Given the description of an element on the screen output the (x, y) to click on. 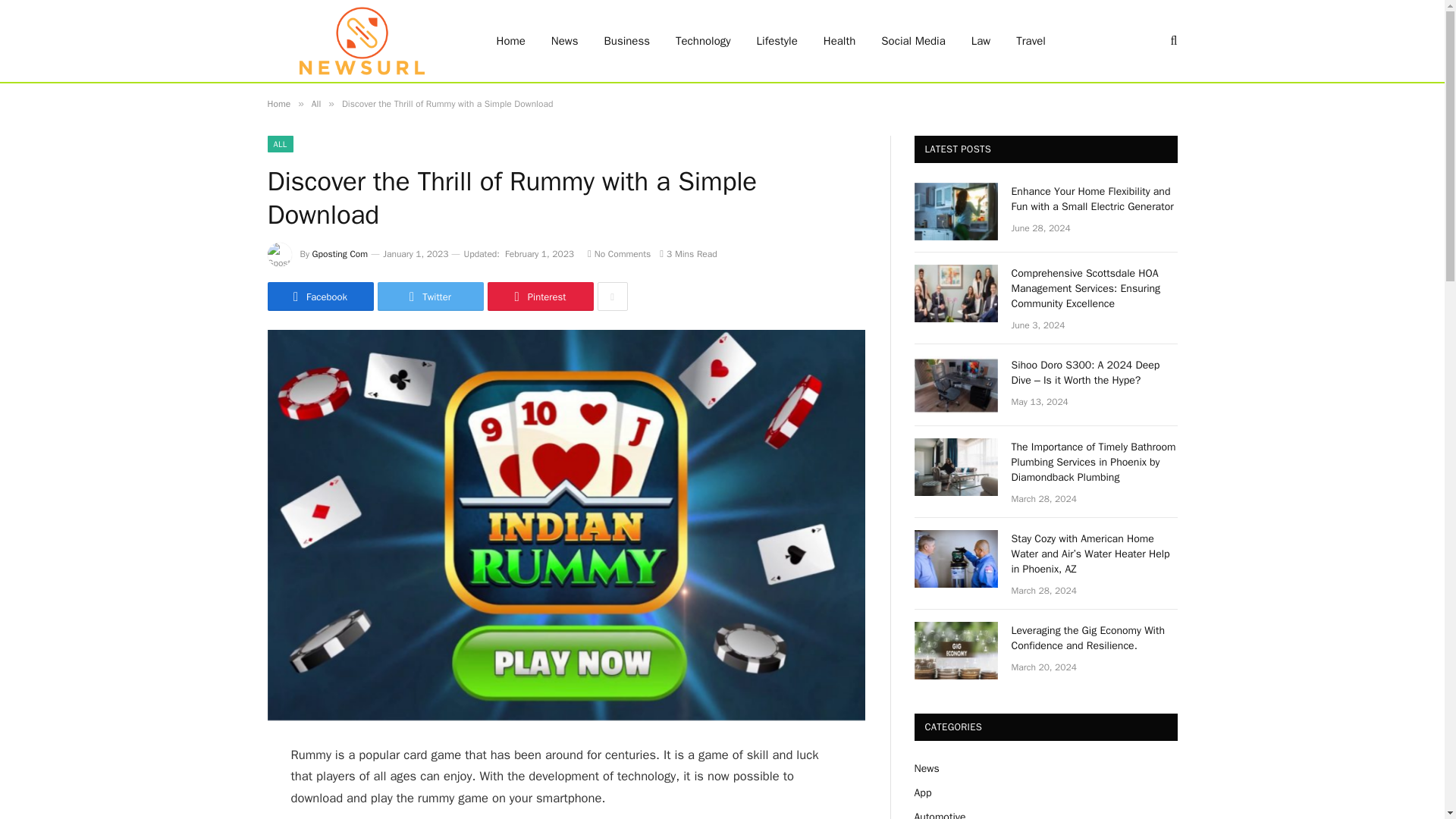
Facebook (319, 296)
ALL (279, 143)
Share on Facebook (319, 296)
Gposting Com (340, 254)
Pinterest (539, 296)
Show More Social Sharing (611, 296)
Newsurl (361, 41)
Home (277, 103)
Technology (703, 40)
No Comments (619, 254)
Twitter (430, 296)
Share on Pinterest (539, 296)
Social Media (912, 40)
Posts by Gposting Com (340, 254)
